Given the description of an element on the screen output the (x, y) to click on. 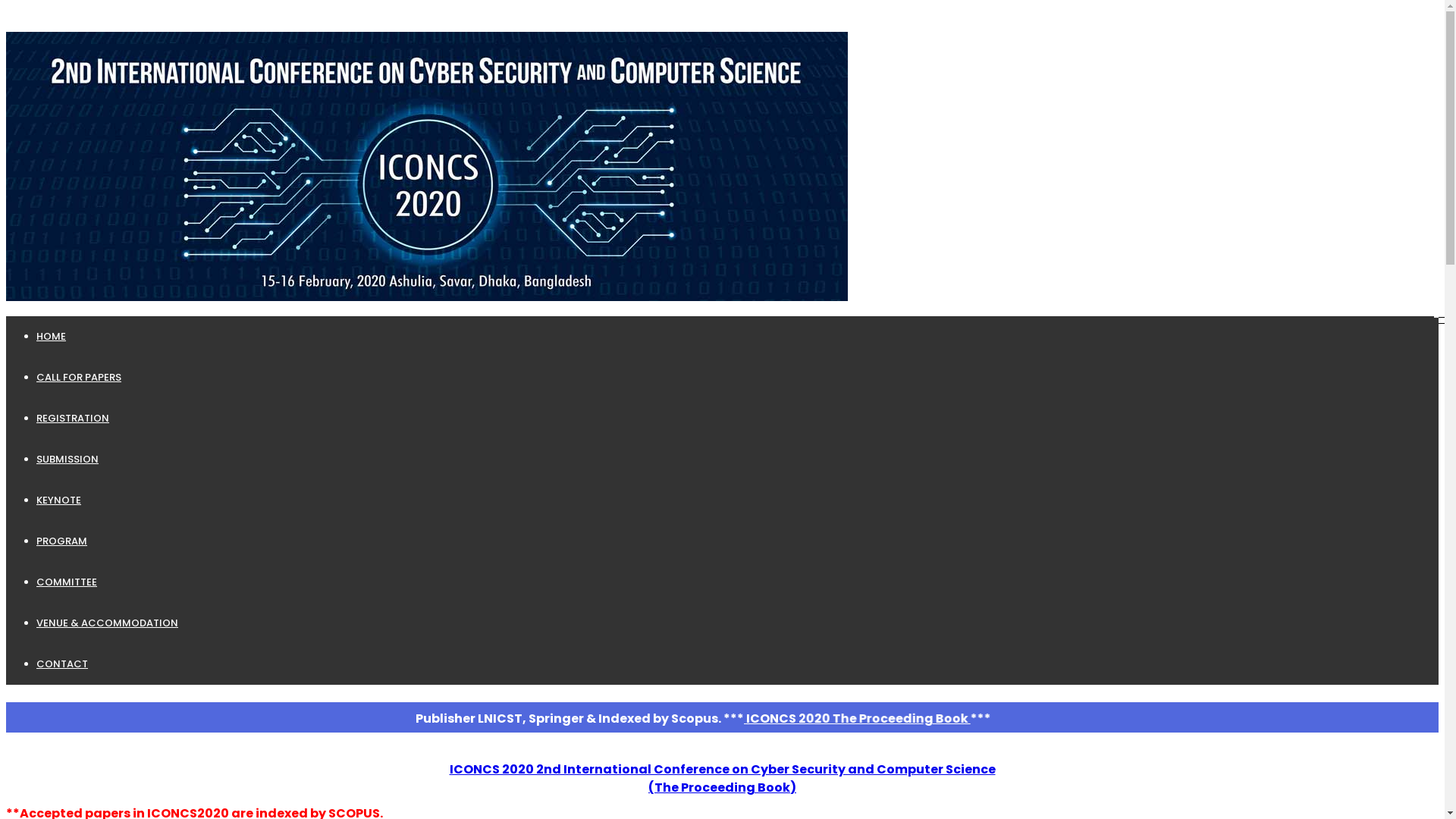
PROGRAM Element type: text (61, 540)
CONTACT Element type: text (61, 663)
CALL FOR PAPERS Element type: text (78, 377)
VENUE & ACCOMMODATION Element type: text (107, 622)
KEYNOTE Element type: text (58, 500)
COMMITTEE Element type: text (66, 581)
SUBMISSION Element type: text (67, 459)
HOME Element type: text (50, 336)
REGISTRATION Element type: text (72, 418)
